Given the description of an element on the screen output the (x, y) to click on. 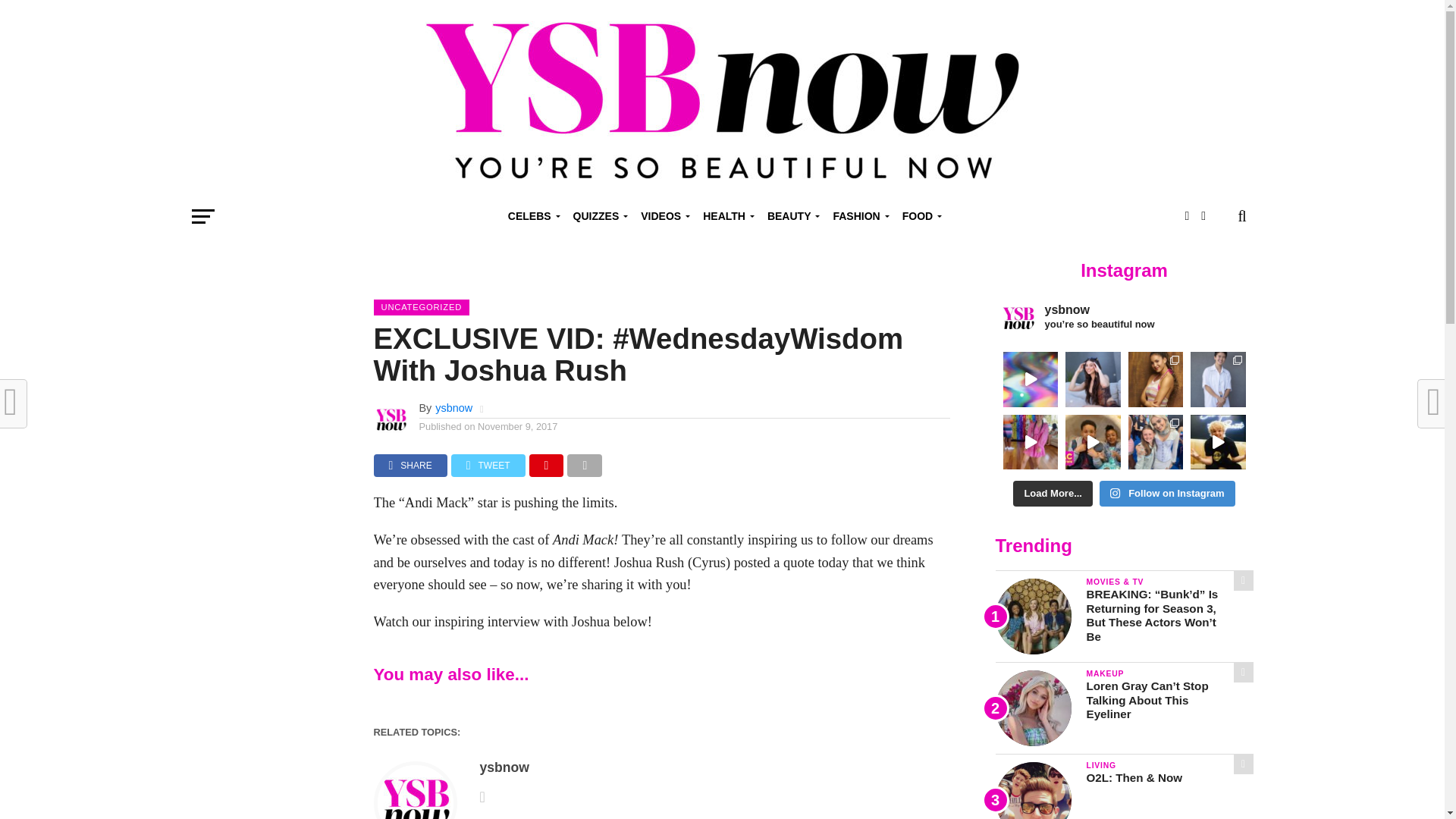
Posts by ysbnow (504, 767)
Posts by ysbnow (453, 408)
